Given the description of an element on the screen output the (x, y) to click on. 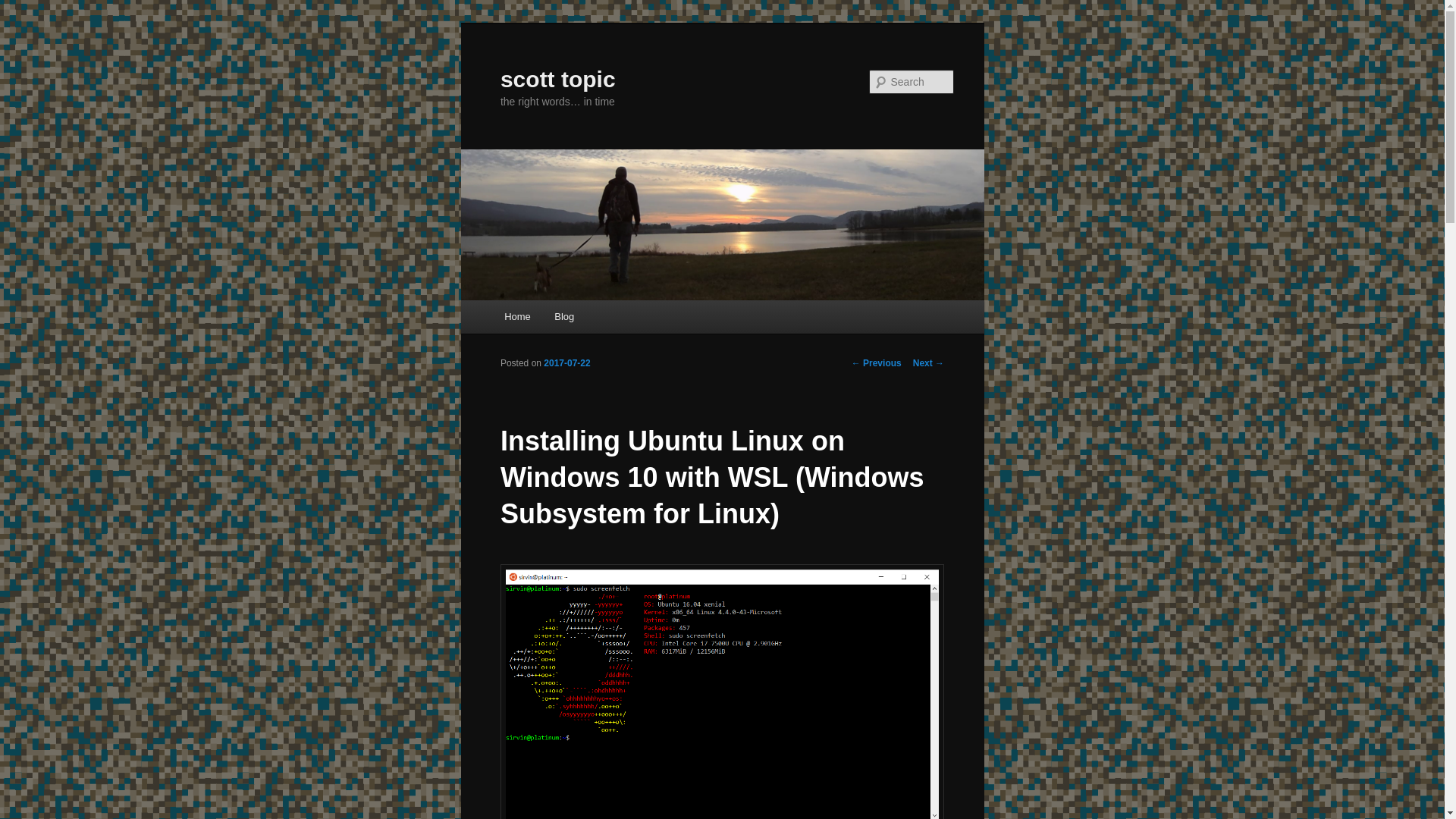
1:57 pm (566, 362)
Search (24, 8)
Home (516, 316)
Blog (564, 316)
scott topic (557, 78)
2017-07-22 (566, 362)
